Given the description of an element on the screen output the (x, y) to click on. 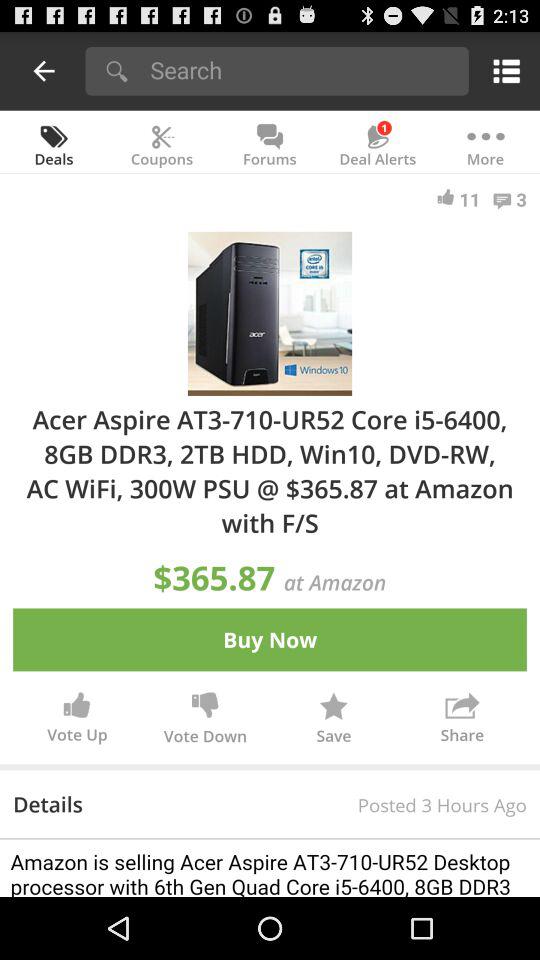
go to menu (502, 70)
